Given the description of an element on the screen output the (x, y) to click on. 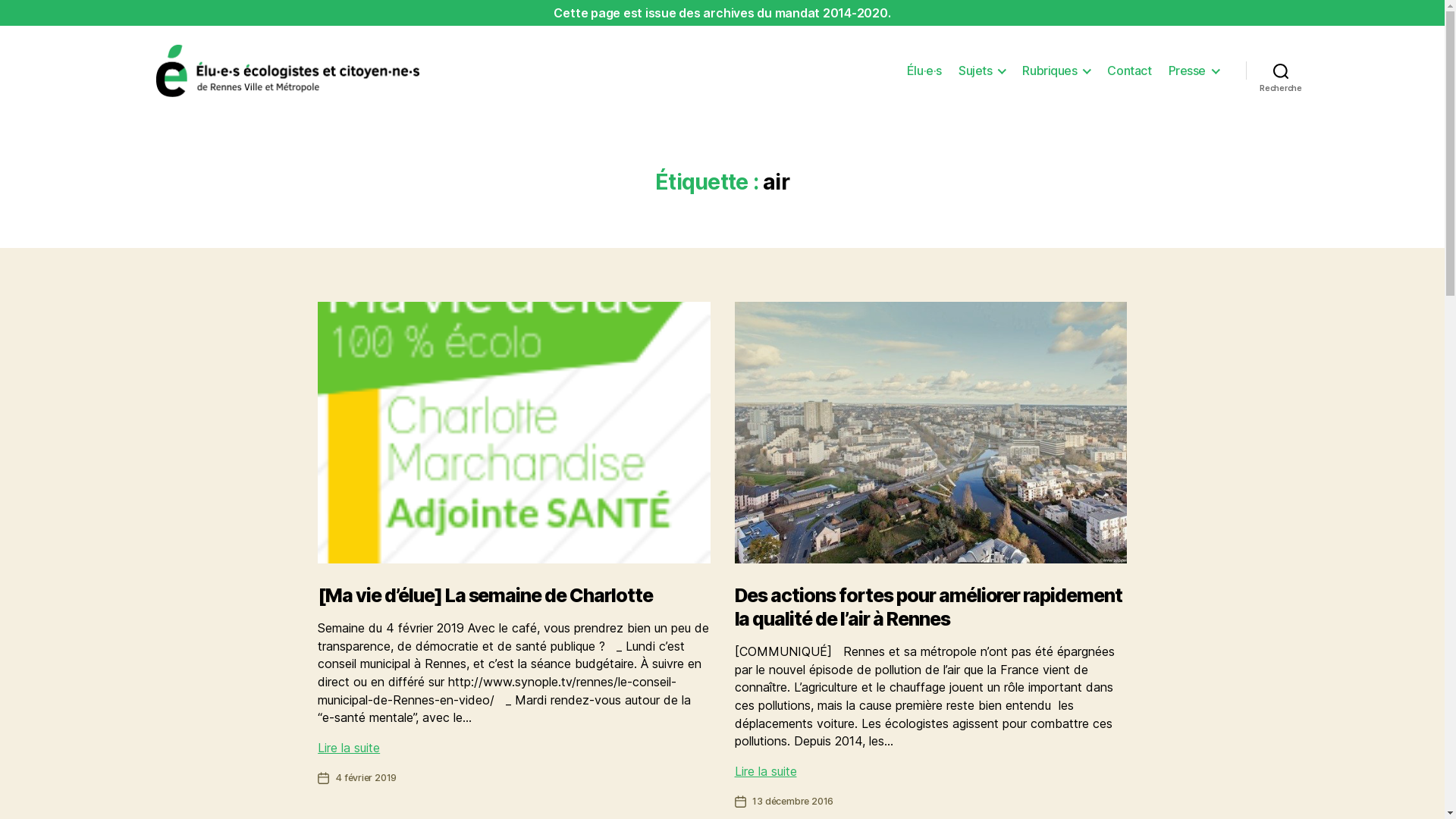
Contact Element type: text (1129, 70)
Recherche Element type: text (1280, 70)
Sujets Element type: text (981, 70)
Rubriques Element type: text (1056, 70)
Presse Element type: text (1193, 70)
